Given the description of an element on the screen output the (x, y) to click on. 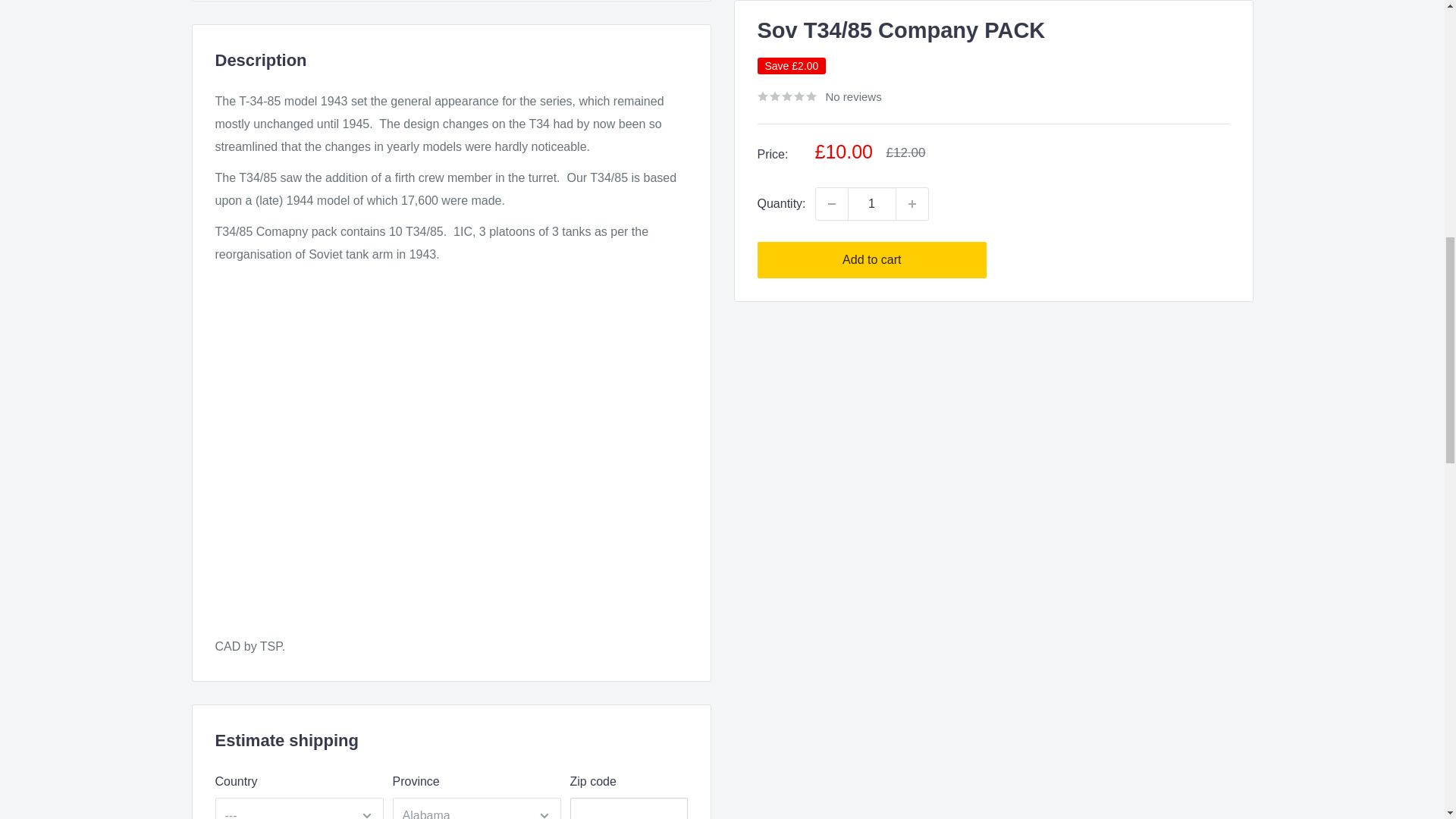
YouTube video player (451, 465)
